Given the description of an element on the screen output the (x, y) to click on. 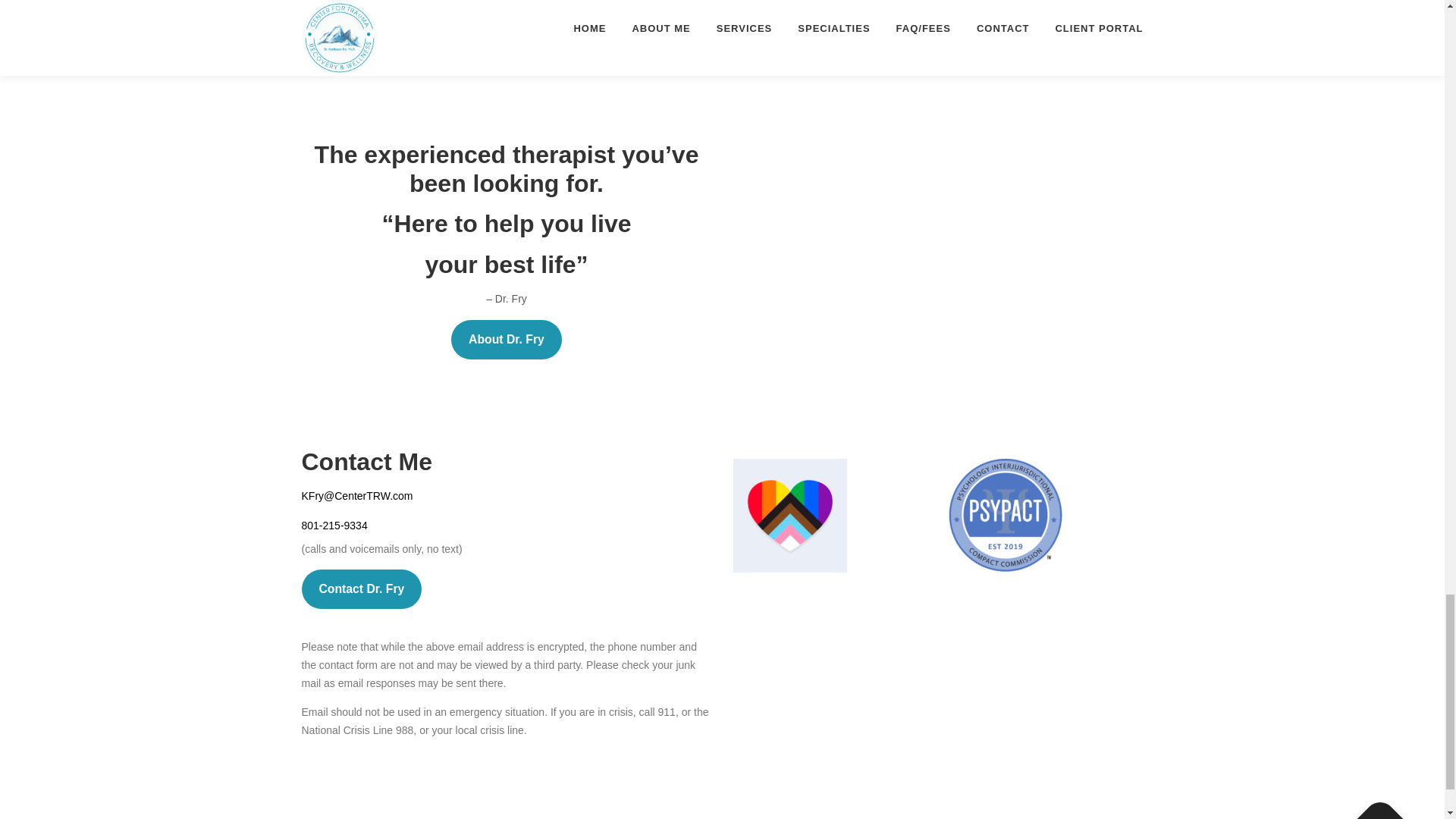
About Dr. Fry (506, 339)
Back To Top (1372, 807)
801-215-9334 (334, 525)
Contact Dr. Fry (361, 589)
